Given the description of an element on the screen output the (x, y) to click on. 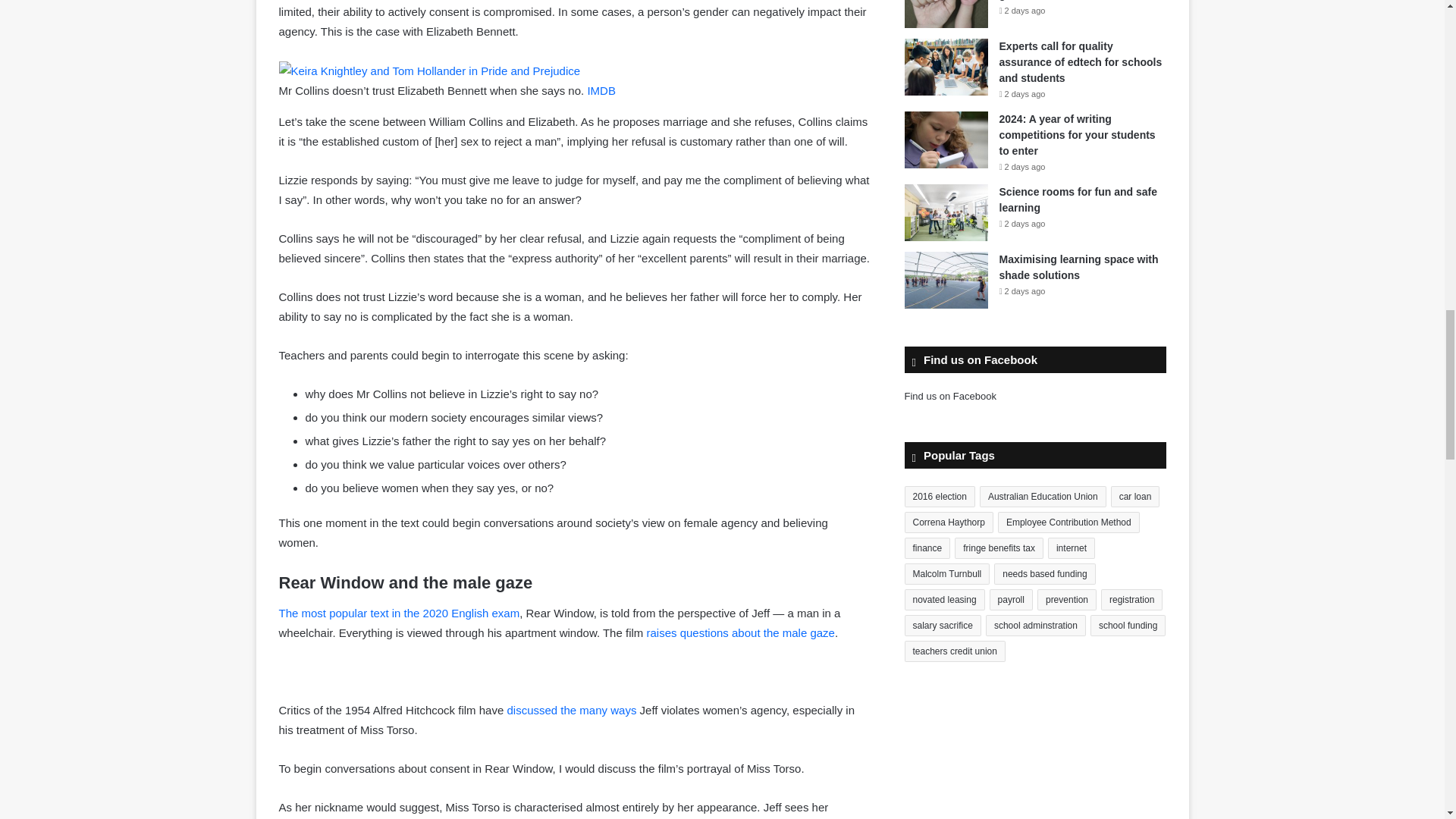
IMDB (600, 90)
The most popular text in the 2020 English exam (399, 612)
